Given the description of an element on the screen output the (x, y) to click on. 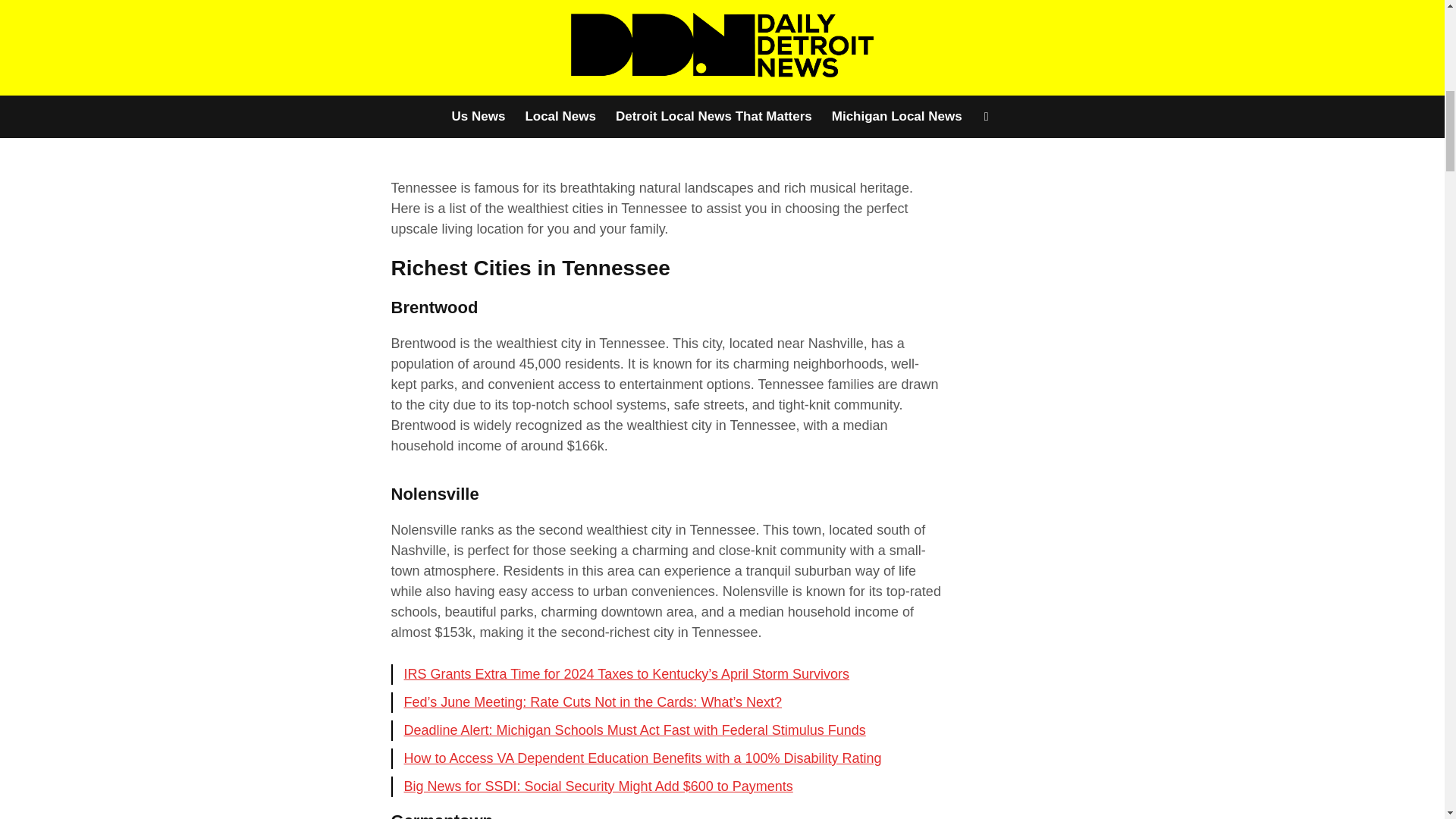
Reddit (271, 59)
linkedin (306, 24)
Mix (306, 59)
Advertisement (666, 85)
Twitter (271, 24)
Tumblr (341, 59)
Pinterest (341, 24)
Facebook (236, 24)
